Given the description of an element on the screen output the (x, y) to click on. 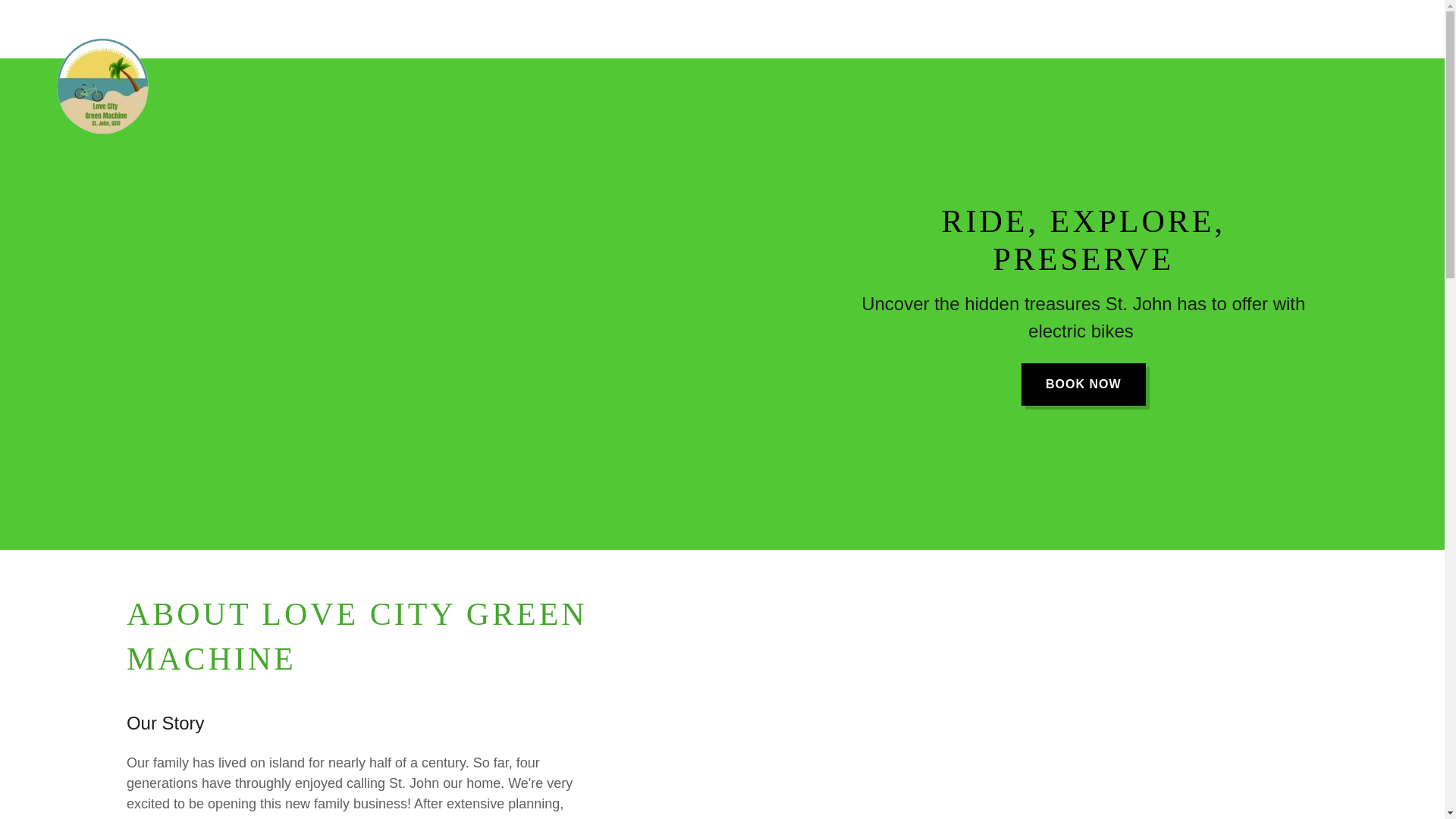
Love City Green Machine (106, 26)
BOOK NOW (1083, 384)
